Given the description of an element on the screen output the (x, y) to click on. 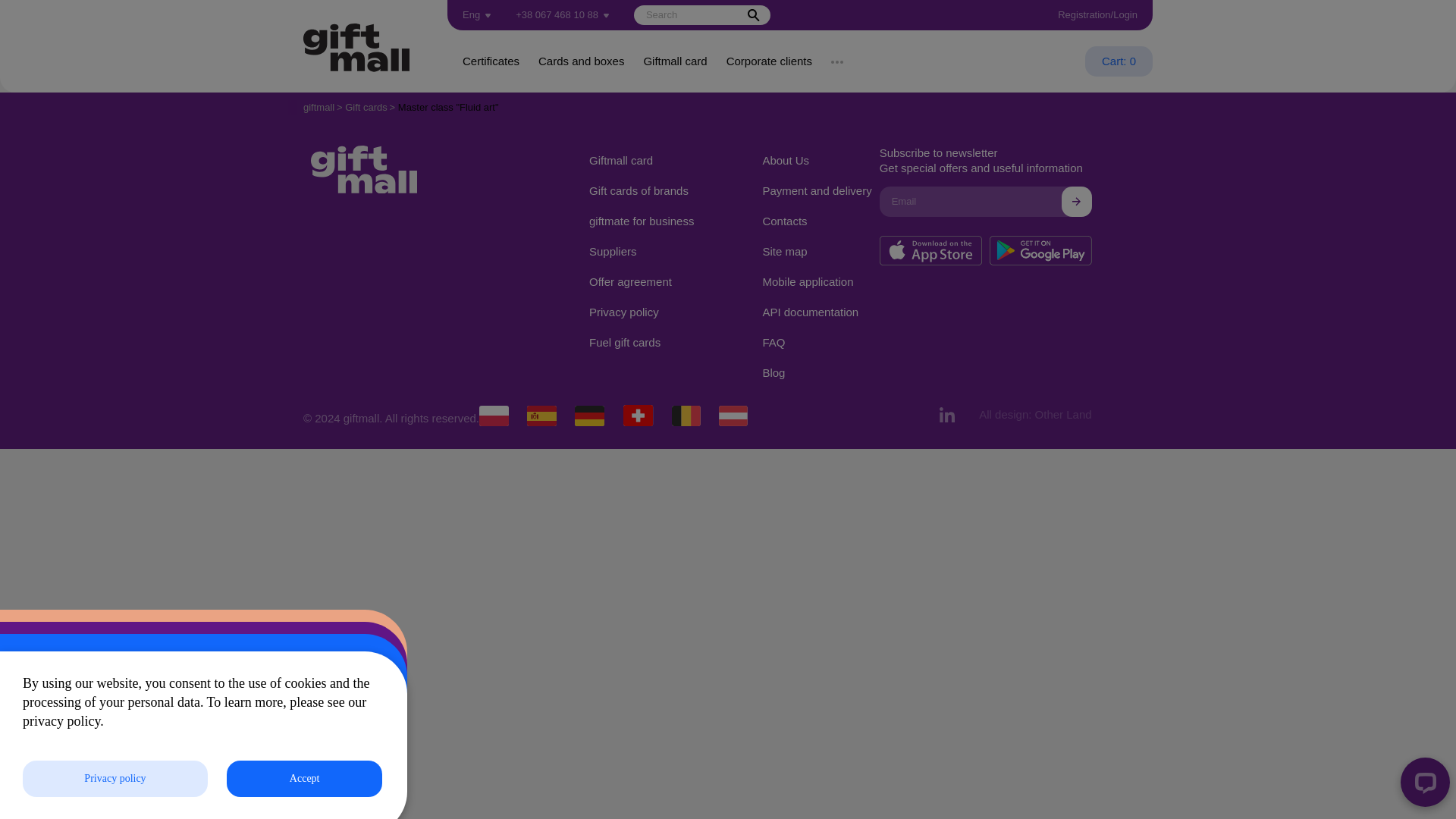
Corporate clients (769, 60)
Gift cards (366, 107)
Eng (477, 14)
giftmall (318, 107)
Certificates (491, 60)
Cart: 0 (1118, 60)
Giftmall card (674, 60)
